Given the description of an element on the screen output the (x, y) to click on. 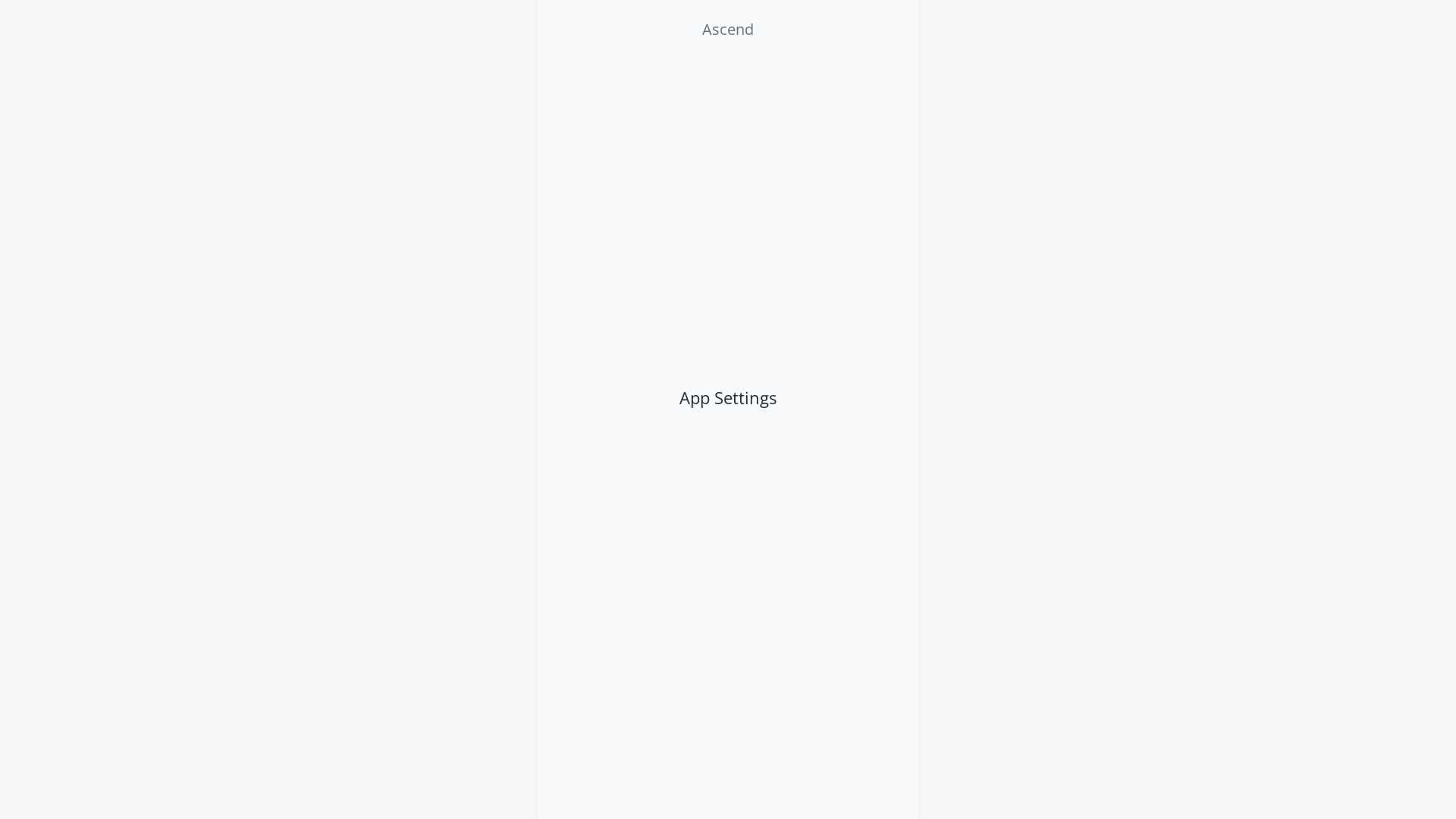
App Settings Element type: text (727, 396)
